Given the description of an element on the screen output the (x, y) to click on. 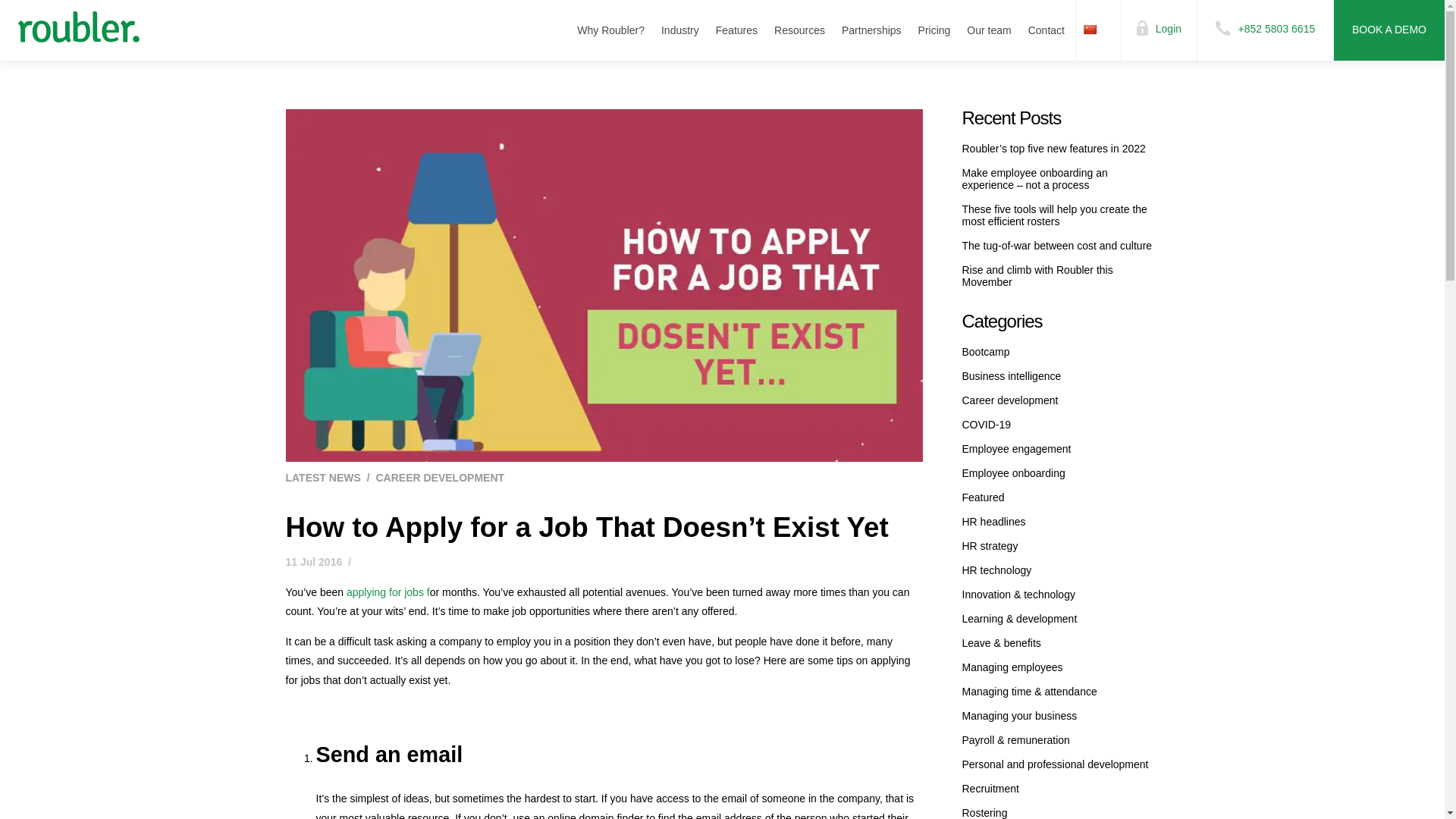
Resources (799, 30)
Our team (988, 30)
Why Roubler? (610, 30)
English (1104, 29)
Partnerships (871, 30)
